Given the description of an element on the screen output the (x, y) to click on. 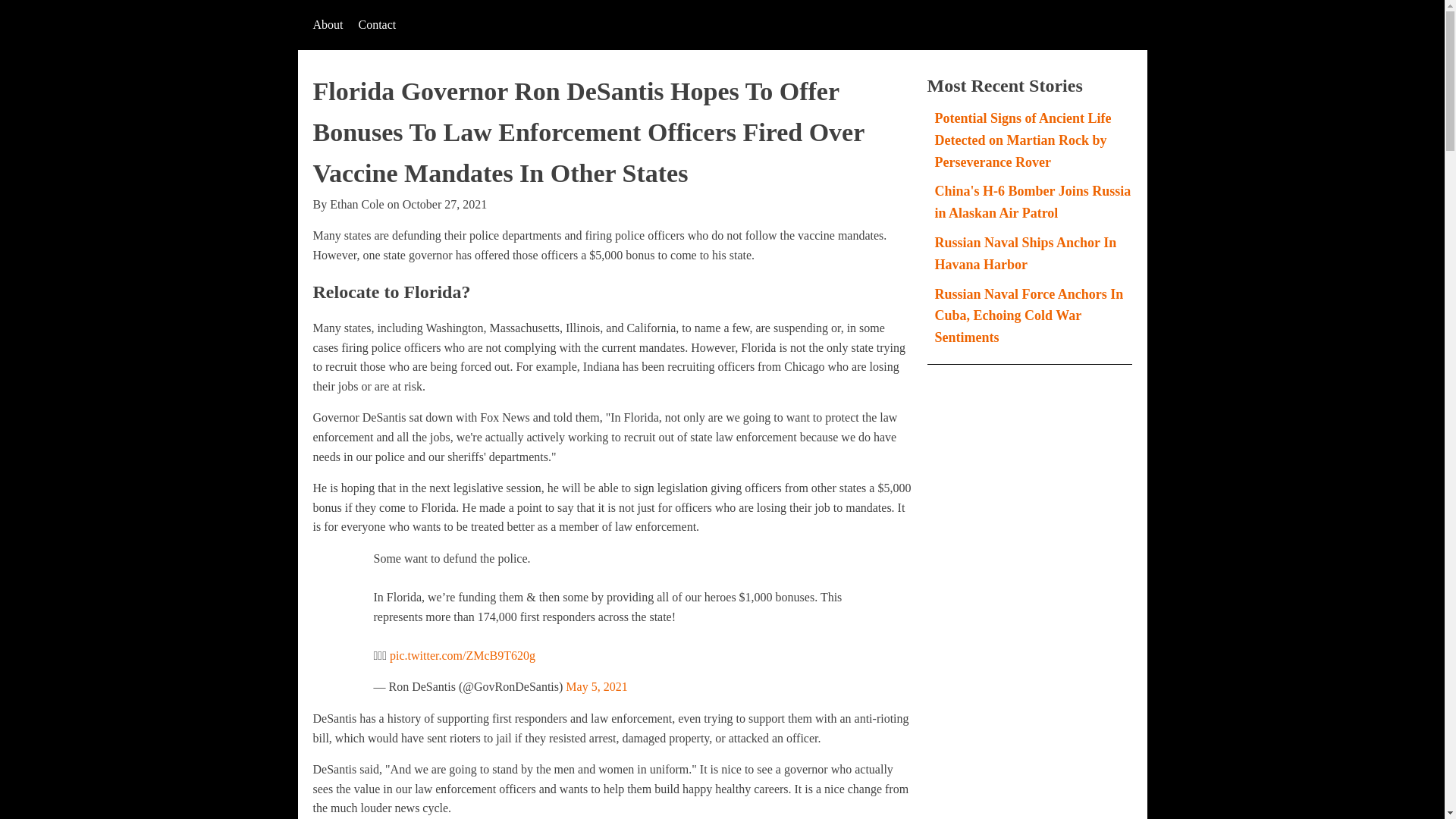
China's H-6 Bomber Joins Russia in Alaskan Air Patrol (1032, 201)
Ethan Cole (357, 204)
May 5, 2021 (596, 686)
Russian Naval Ships Anchor In Havana Harbor (1025, 253)
